Given the description of an element on the screen output the (x, y) to click on. 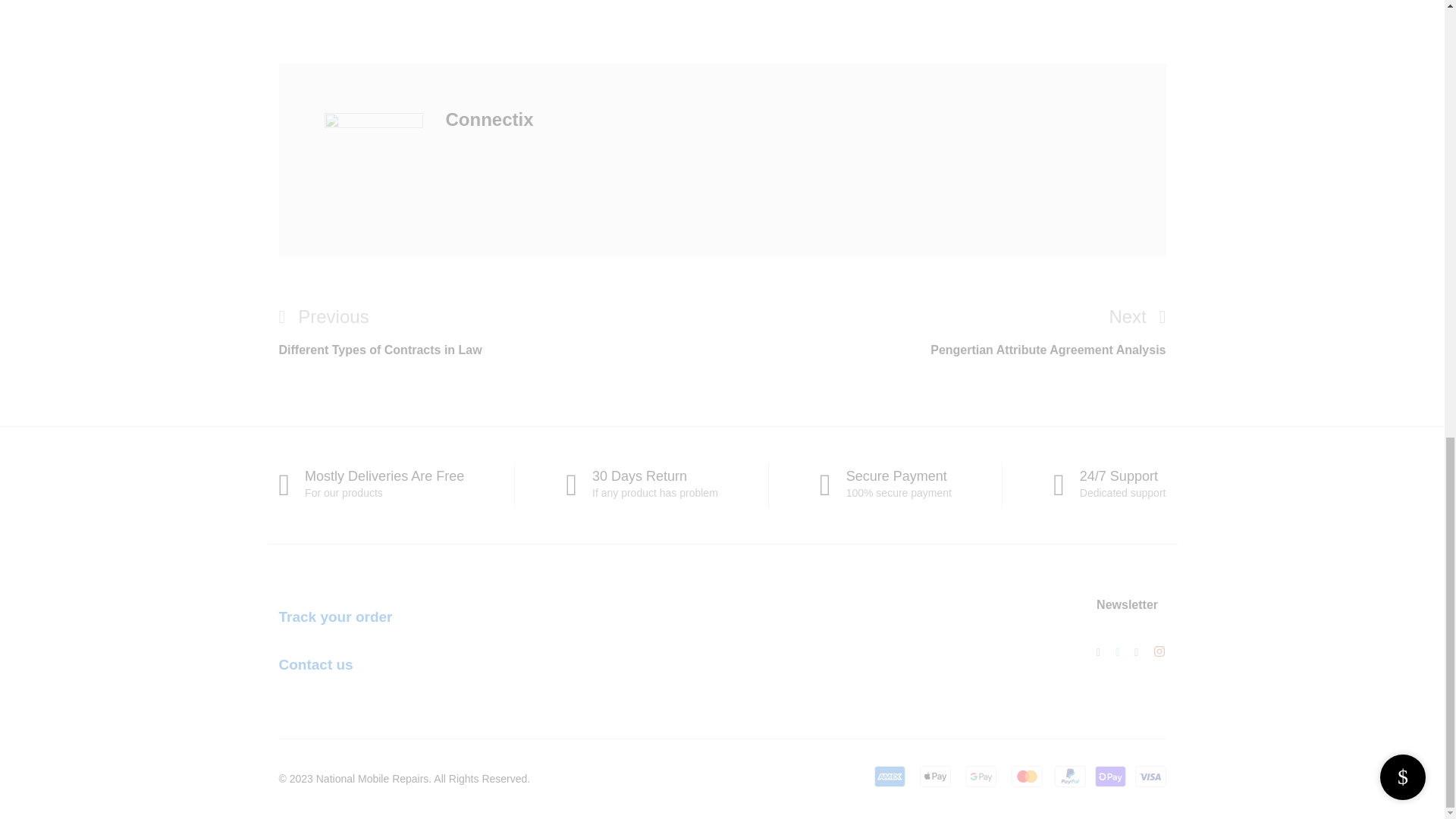
Youtube (1135, 651)
Facebook (1098, 651)
Contact us (316, 664)
Track your order (336, 616)
Twitter (1117, 651)
Instagram (500, 331)
